Given the description of an element on the screen output the (x, y) to click on. 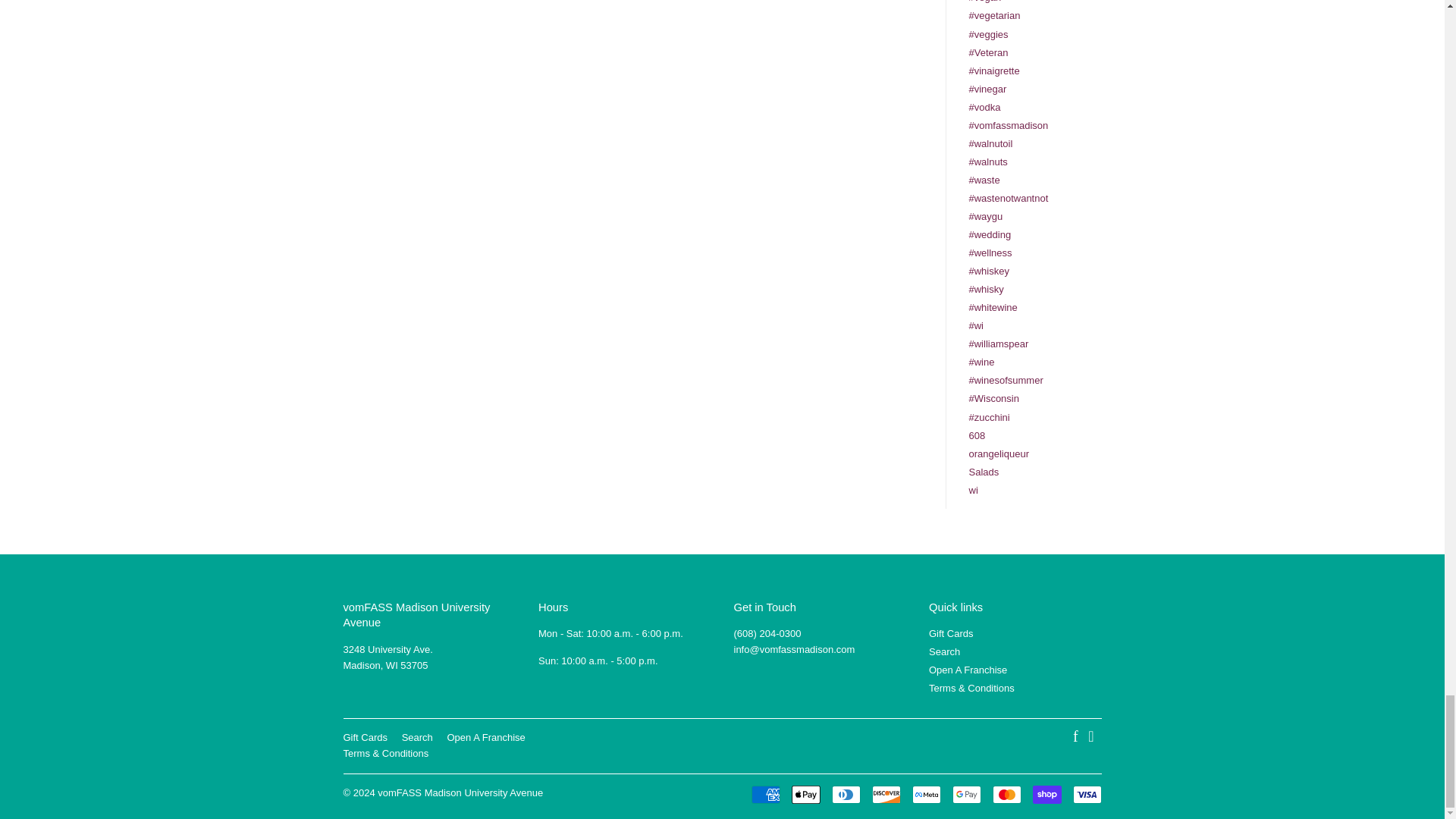
Visa (1085, 794)
Shop Pay (1046, 794)
Apple Pay (806, 794)
Discover (886, 794)
American Express (764, 794)
Meta Pay (925, 794)
Google Pay (966, 794)
Diners Club (845, 794)
Mastercard (1005, 794)
